Given the description of an element on the screen output the (x, y) to click on. 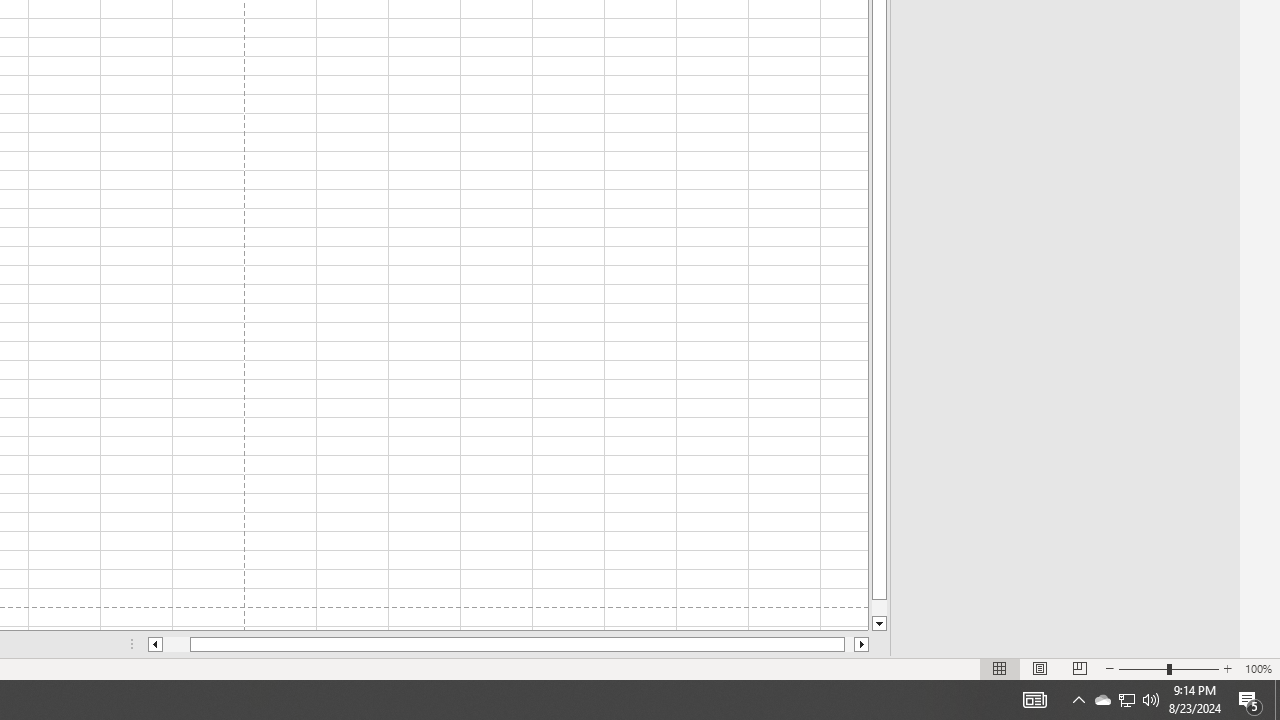
Page left (175, 644)
Column left (153, 644)
Page Layout (1039, 668)
Zoom Out (1142, 668)
Class: NetUIScrollBar (507, 644)
Page Break Preview (1079, 668)
Normal (1000, 668)
Zoom In (1227, 668)
Zoom (1168, 668)
Line down (879, 624)
Page down (879, 607)
Column right (861, 644)
Page right (848, 644)
